Given the description of an element on the screen output the (x, y) to click on. 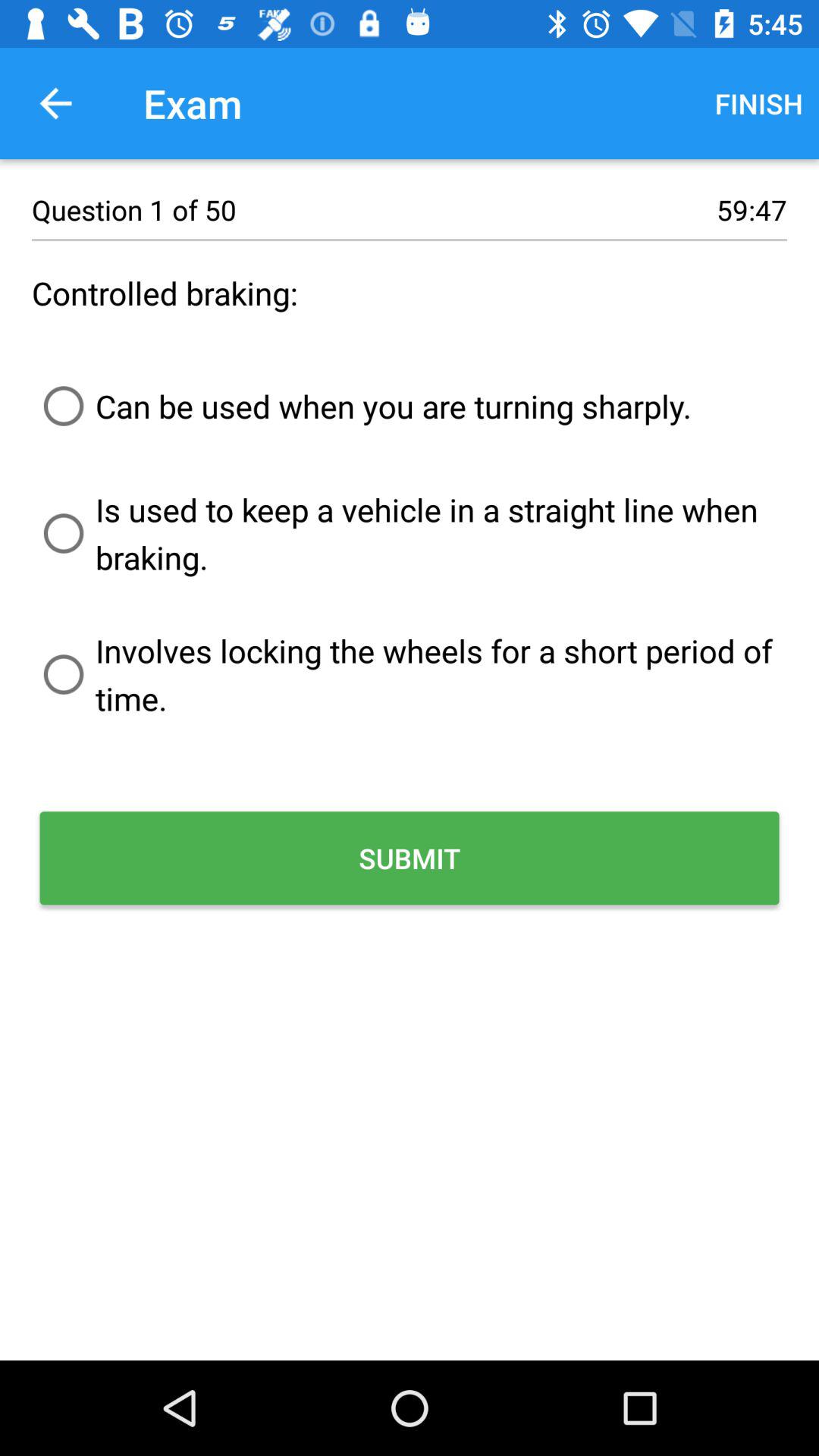
swipe to the is used to (409, 532)
